Given the description of an element on the screen output the (x, y) to click on. 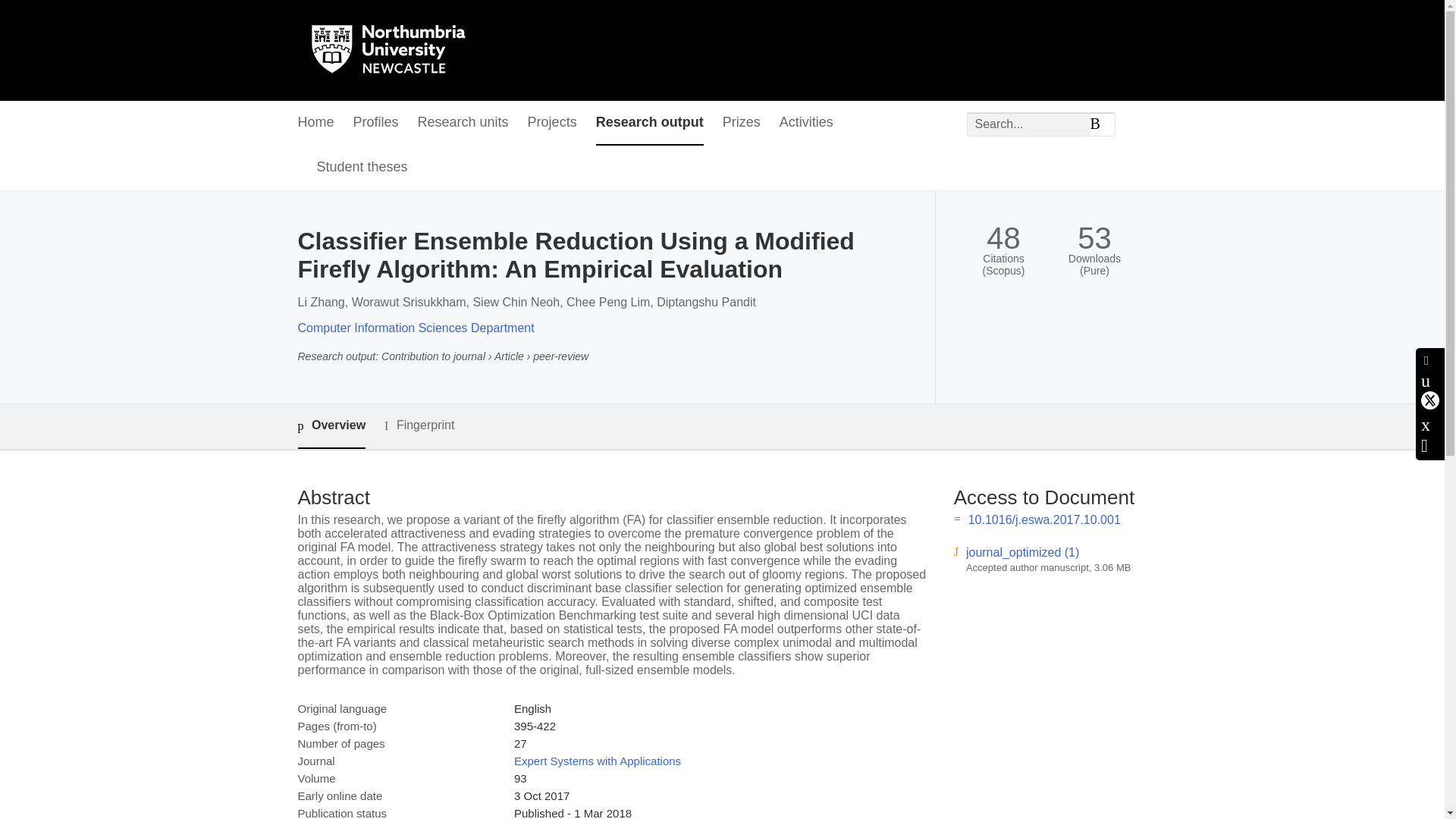
Profiles (375, 122)
Research output (649, 122)
Computer Information Sciences Department (415, 327)
Projects (551, 122)
Student theses (362, 167)
Overview (331, 426)
Activities (805, 122)
Expert Systems with Applications (597, 760)
Northumbria University Research Portal Home (398, 50)
